Given the description of an element on the screen output the (x, y) to click on. 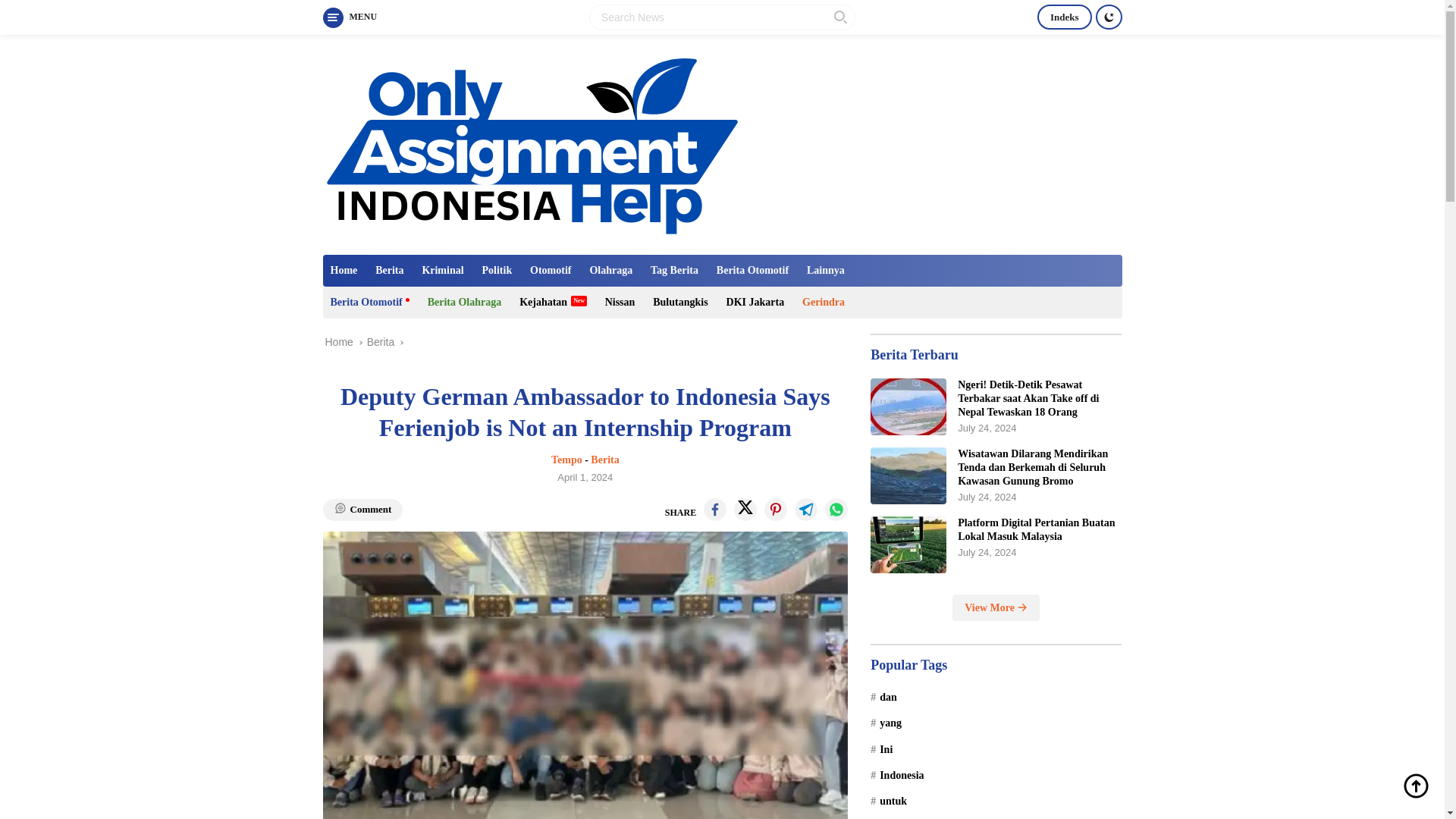
Menus (350, 17)
Comment (363, 509)
Politik (496, 270)
Berita (389, 270)
Tag Berita (674, 270)
Nissan (619, 302)
Tempo (566, 460)
Tag Berita (674, 270)
Kriminal (441, 270)
Dark Mode (1107, 16)
Berita Otomotif (752, 270)
Politik (496, 270)
Indeks (1064, 16)
Lainnya (825, 270)
Tempo (566, 460)
